Given the description of an element on the screen output the (x, y) to click on. 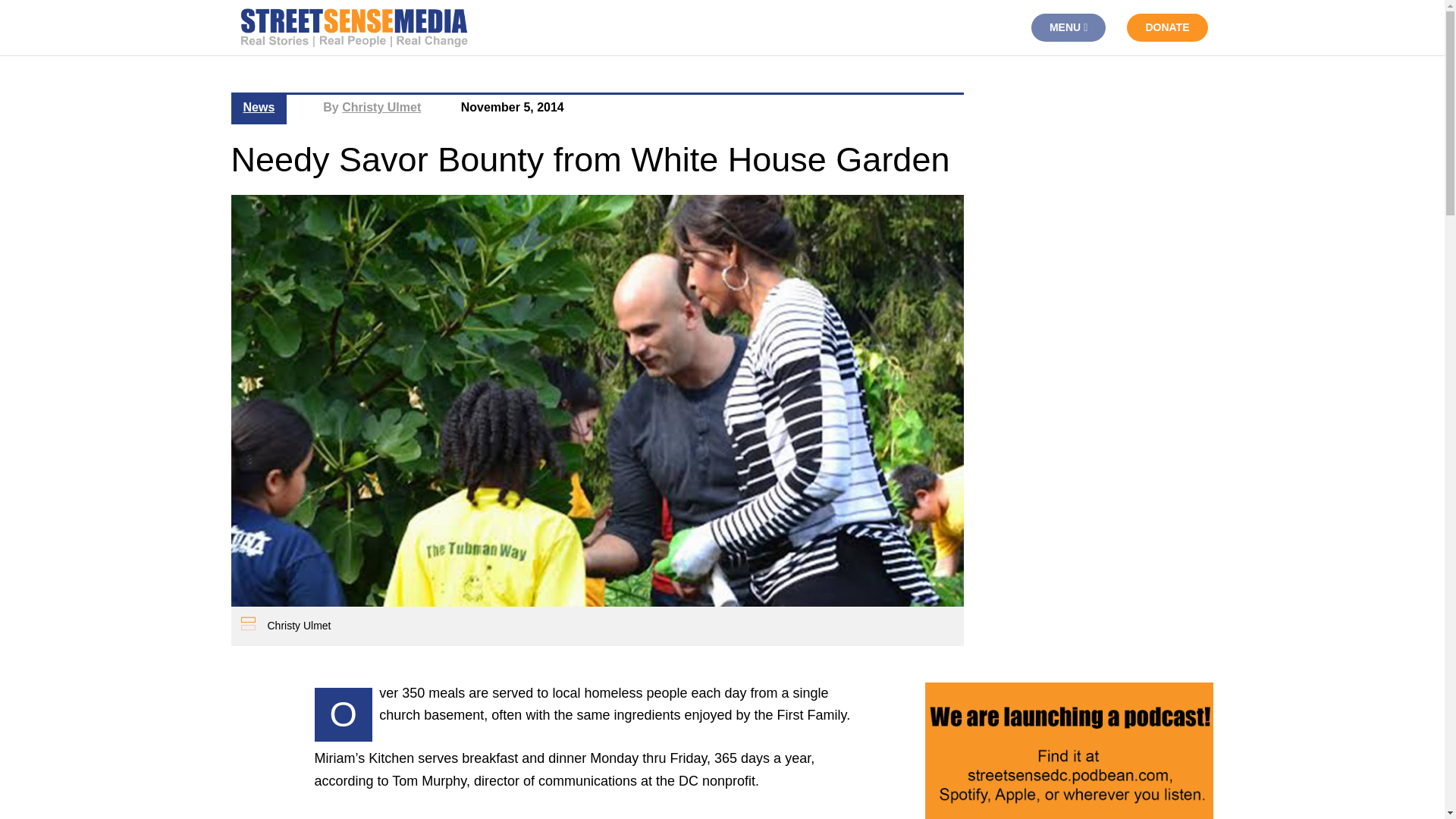
Christy Ulmet (381, 106)
MENU (1067, 27)
News (259, 106)
DONATE (1166, 27)
